Given the description of an element on the screen output the (x, y) to click on. 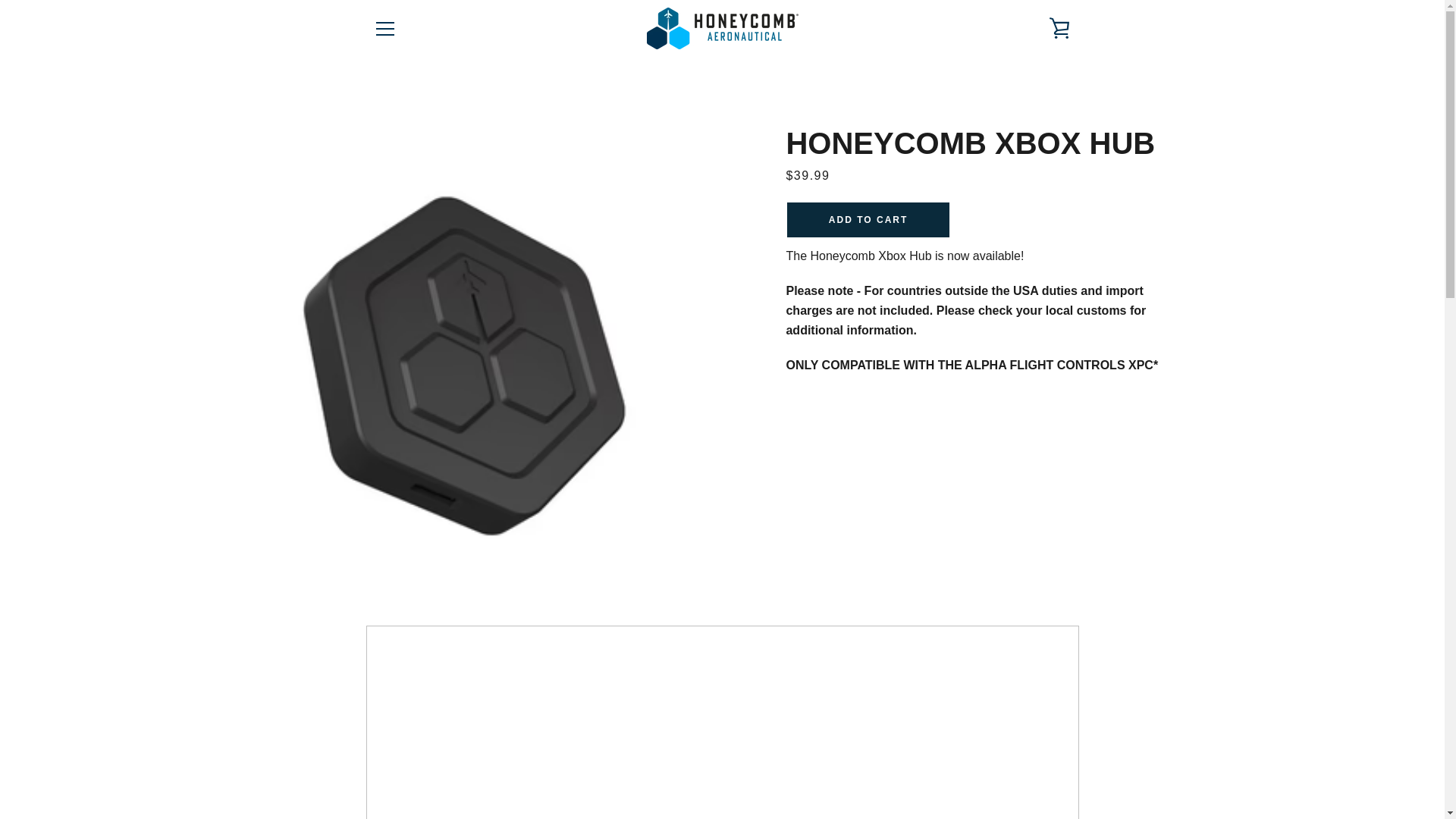
ADD TO CART (868, 219)
MENU (384, 27)
VIEW CART (1059, 27)
